Given the description of an element on the screen output the (x, y) to click on. 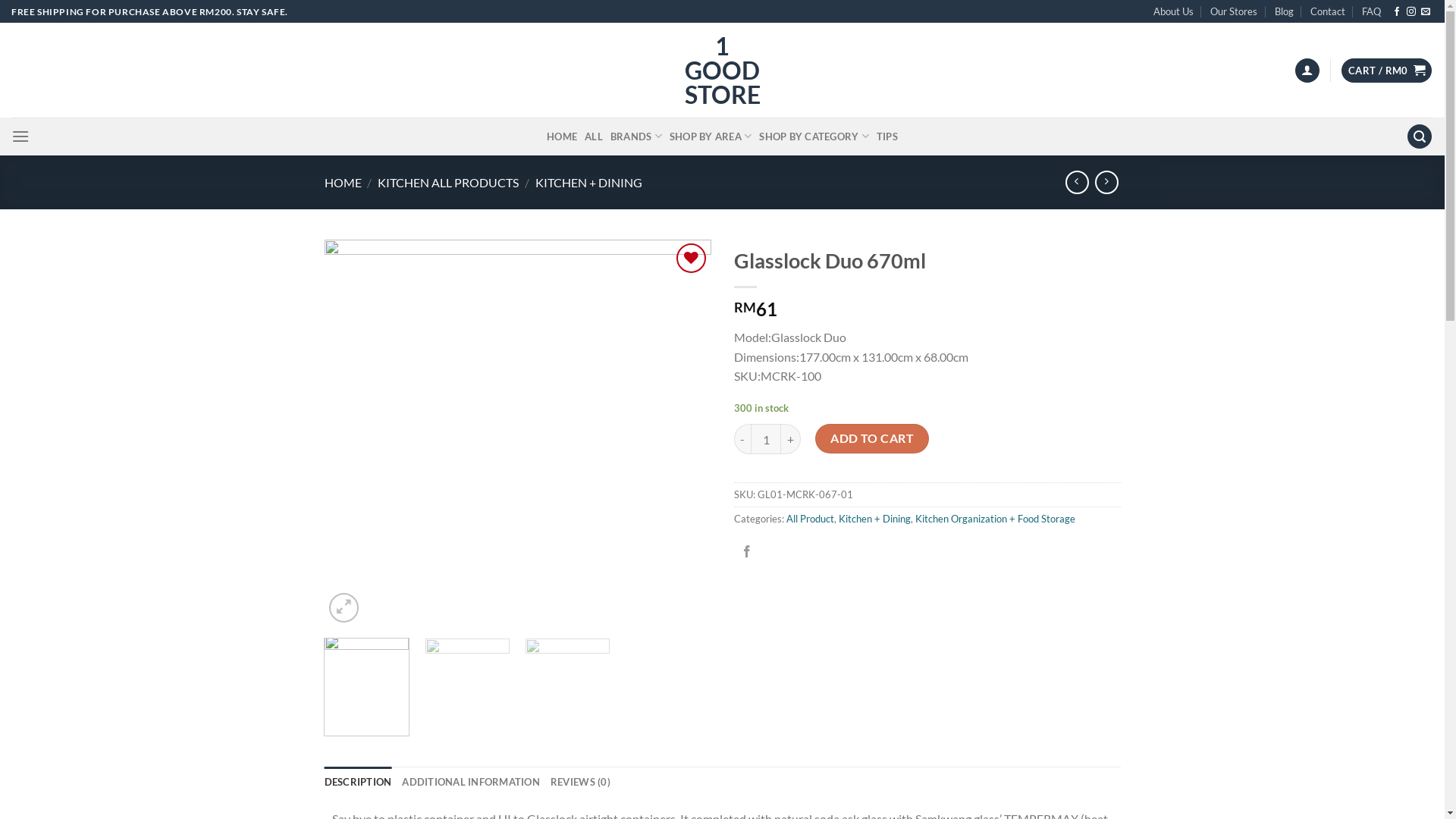
BRANDS Element type: text (636, 135)
Glasslock MCRK-067-1 Element type: hover (517, 432)
ADDITIONAL INFORMATION Element type: text (470, 781)
1 GOOD STORE Element type: text (721, 70)
Zoom Element type: hover (343, 607)
CART / RM0 Element type: text (1386, 70)
Our Stores Element type: text (1233, 11)
Qty Element type: hover (765, 438)
SHOP BY CATEGORY Element type: text (814, 135)
SHOP BY AREA Element type: text (710, 135)
Contact Element type: text (1327, 11)
KITCHEN ALL PRODUCTS Element type: text (447, 182)
ADD TO CART Element type: text (871, 438)
Blog Element type: text (1283, 11)
Send us an email Element type: hover (1425, 11)
About Us Element type: text (1173, 11)
Follow on Facebook Element type: hover (1396, 11)
Share on Facebook Element type: hover (746, 551)
HOME Element type: text (342, 182)
Kitchen + Dining Element type: text (874, 518)
ALL Element type: text (593, 136)
Follow on Instagram Element type: hover (1410, 11)
KITCHEN + DINING Element type: text (588, 182)
FAQ Element type: text (1370, 11)
TIPS Element type: text (886, 136)
Kitchen Organization + Food Storage Element type: text (994, 518)
All Product Element type: text (809, 518)
HOME Element type: text (561, 136)
DESCRIPTION Element type: text (358, 781)
REVIEWS (0) Element type: text (580, 781)
